Given the description of an element on the screen output the (x, y) to click on. 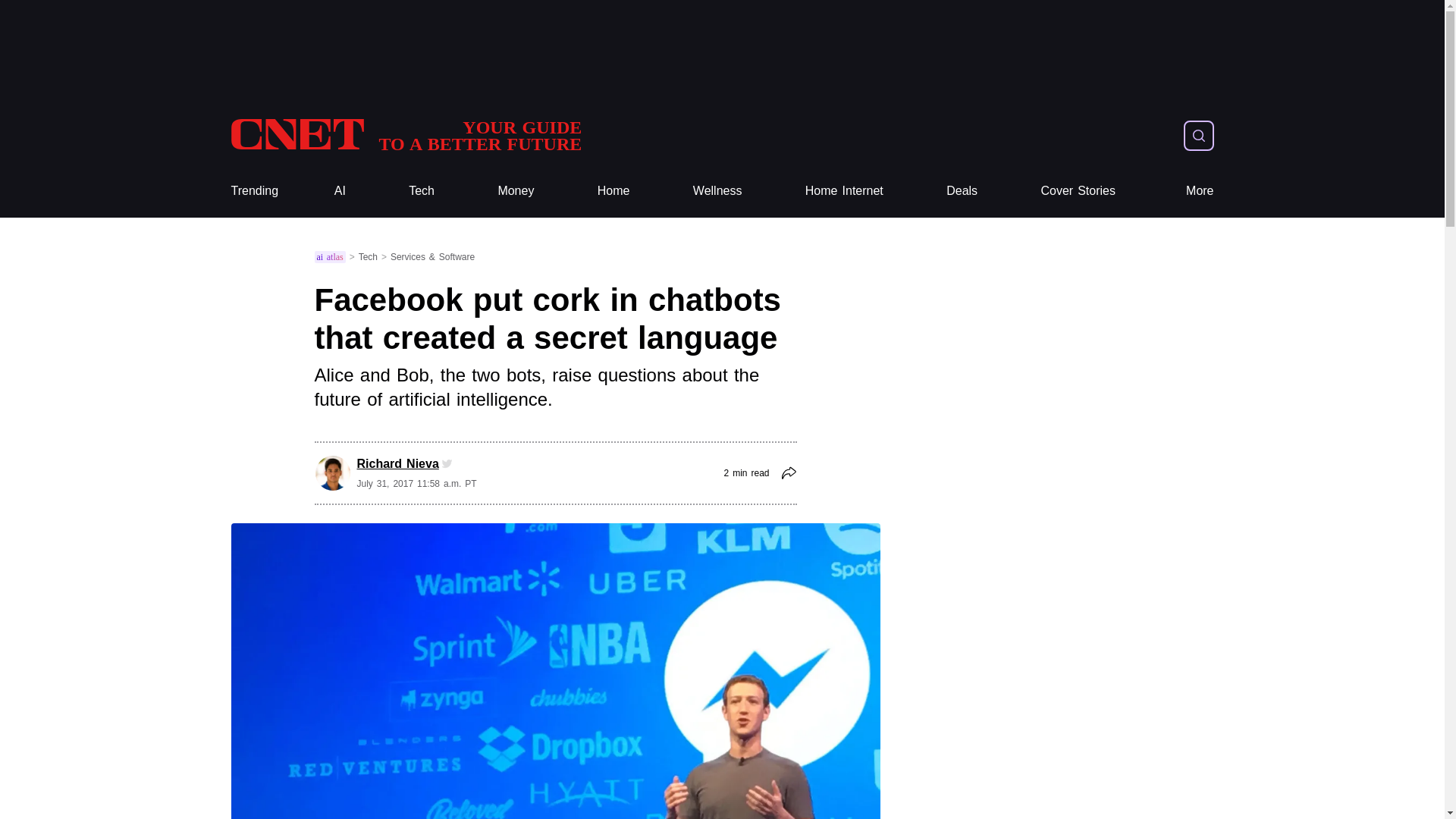
Home (613, 190)
Tech (421, 190)
Wellness (405, 135)
Money (717, 190)
Trending (515, 190)
Cover Stories (254, 190)
Deals (1078, 190)
Home Internet (961, 190)
Money (844, 190)
